Given the description of an element on the screen output the (x, y) to click on. 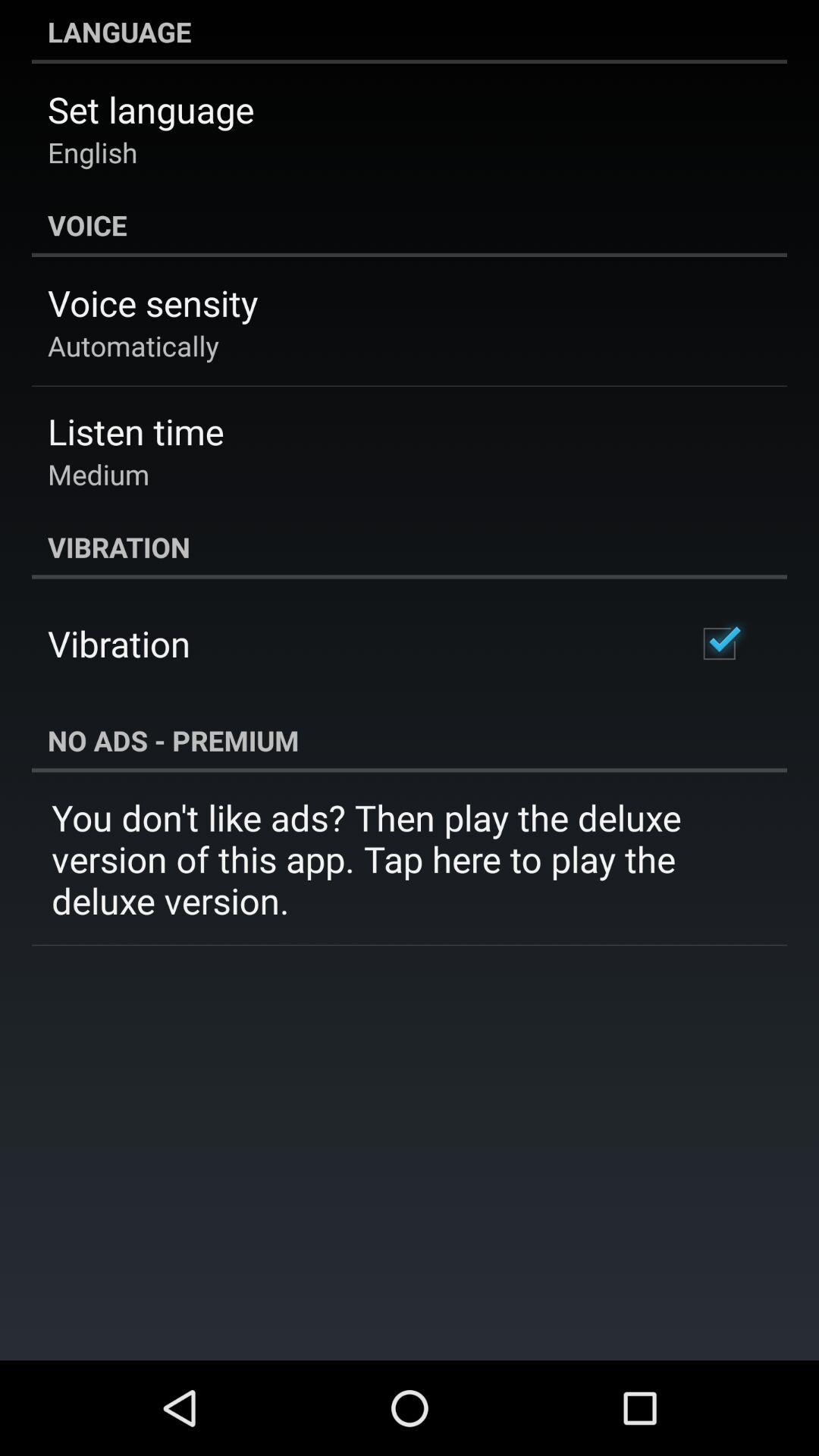
tap the english icon (92, 152)
